Given the description of an element on the screen output the (x, y) to click on. 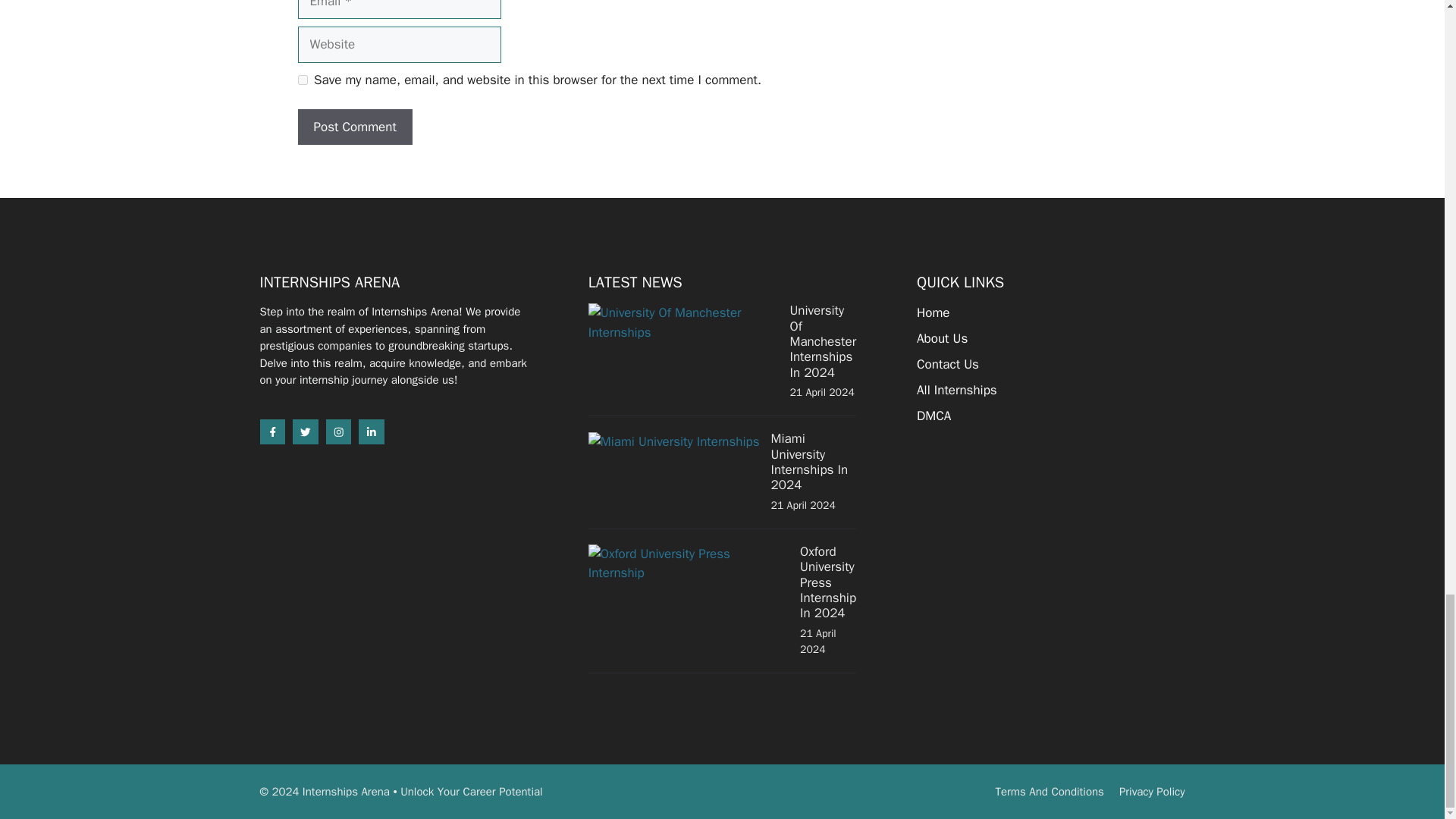
Post Comment (354, 126)
Post Comment (354, 126)
yes (302, 80)
